Given the description of an element on the screen output the (x, y) to click on. 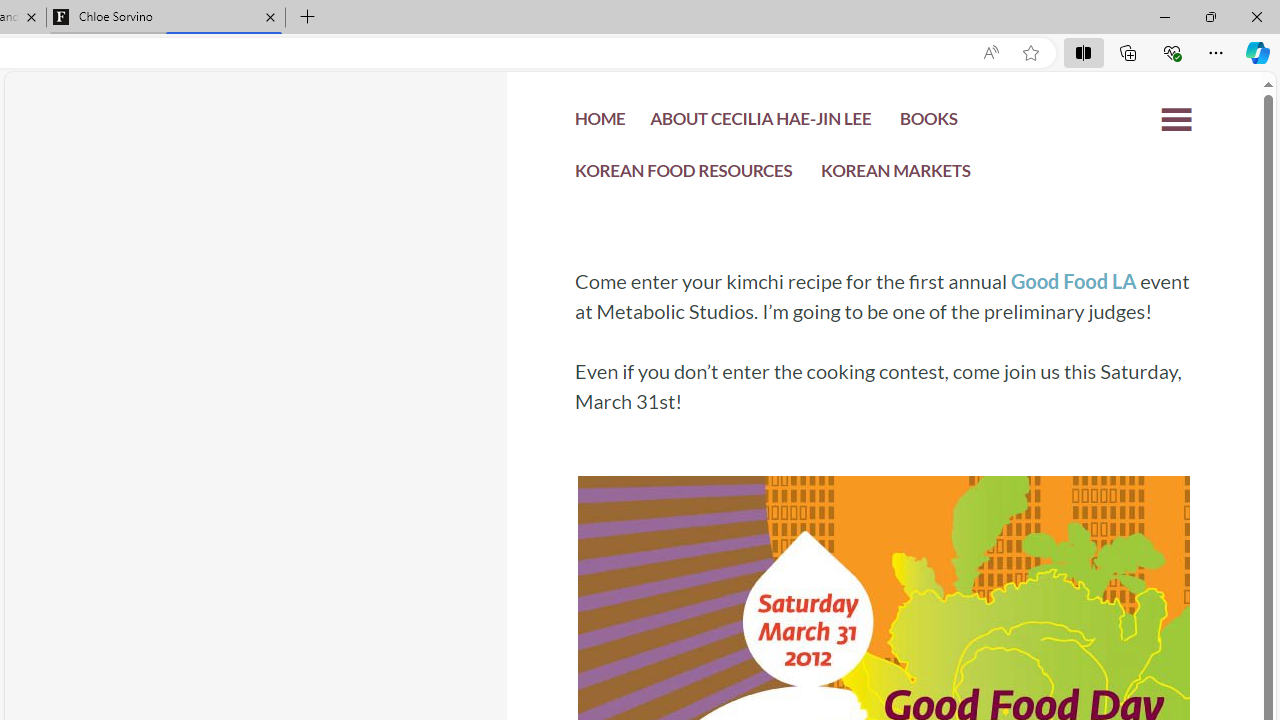
HOME (599, 124)
Good Food LA (1072, 281)
Chloe Sorvino (166, 17)
ABOUT CECILIA HAE-JIN LEE (760, 124)
KOREAN MARKETS (895, 173)
KOREAN FOOD RESOURCES (683, 175)
